Given the description of an element on the screen output the (x, y) to click on. 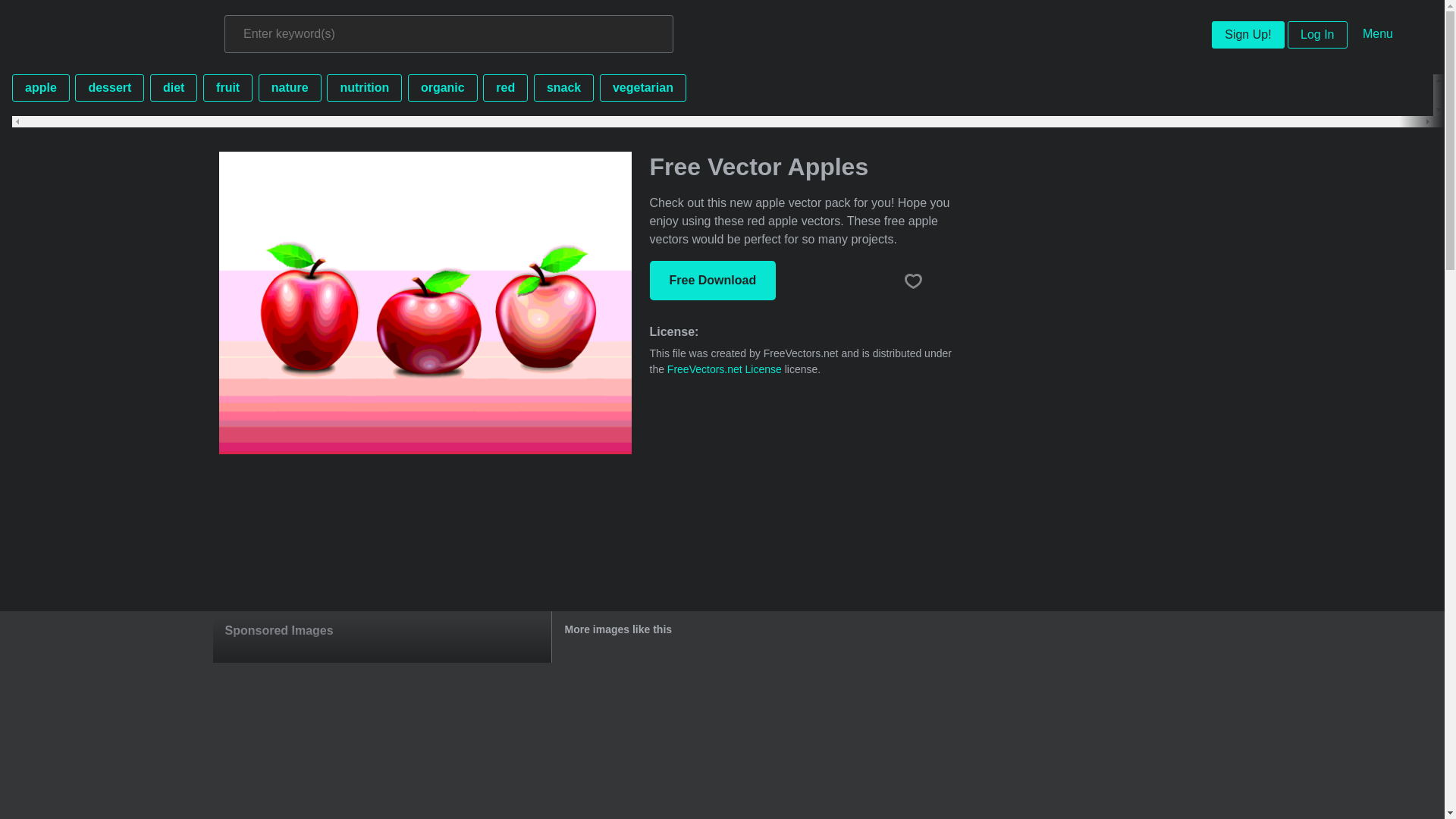
FreeVectors.net License (723, 369)
Organic (442, 87)
Log In (1316, 34)
diet (172, 87)
Nutrition (363, 87)
Fruit (227, 87)
Apple (40, 87)
vegetarian (642, 87)
Snack (564, 87)
Sign Up! (1247, 34)
